Given the description of an element on the screen output the (x, y) to click on. 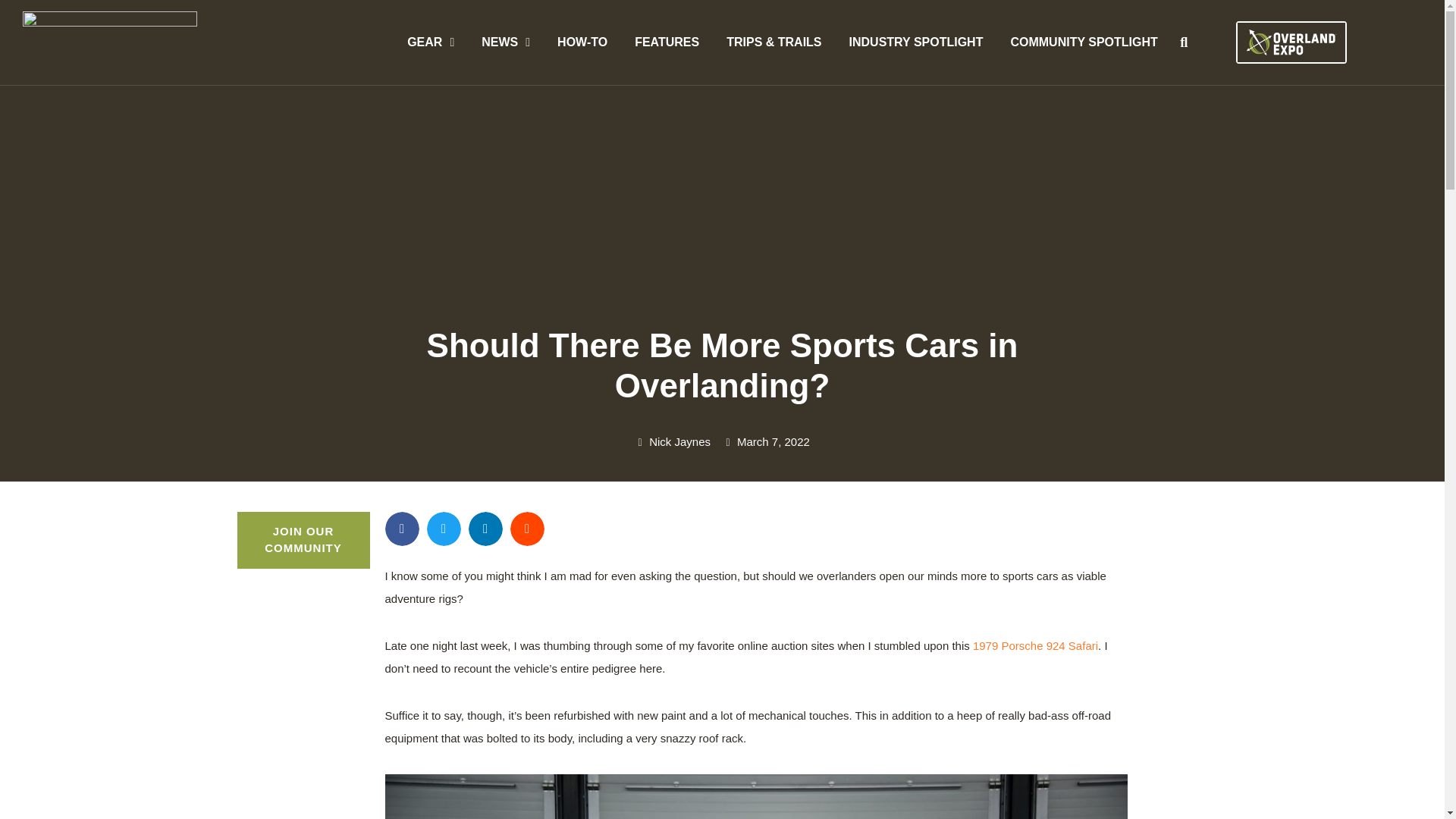
Nick Jaynes (672, 442)
INDUSTRY SPOTLIGHT (916, 42)
FEATURES (667, 42)
NEWS (505, 42)
COMMUNITY SPOTLIGHT (1082, 42)
HOW-TO (582, 42)
March 7, 2022 (765, 442)
1979 Porsche 924 Safari (1034, 645)
JOIN OUR COMMUNITY (302, 539)
GEAR (430, 42)
